Given the description of an element on the screen output the (x, y) to click on. 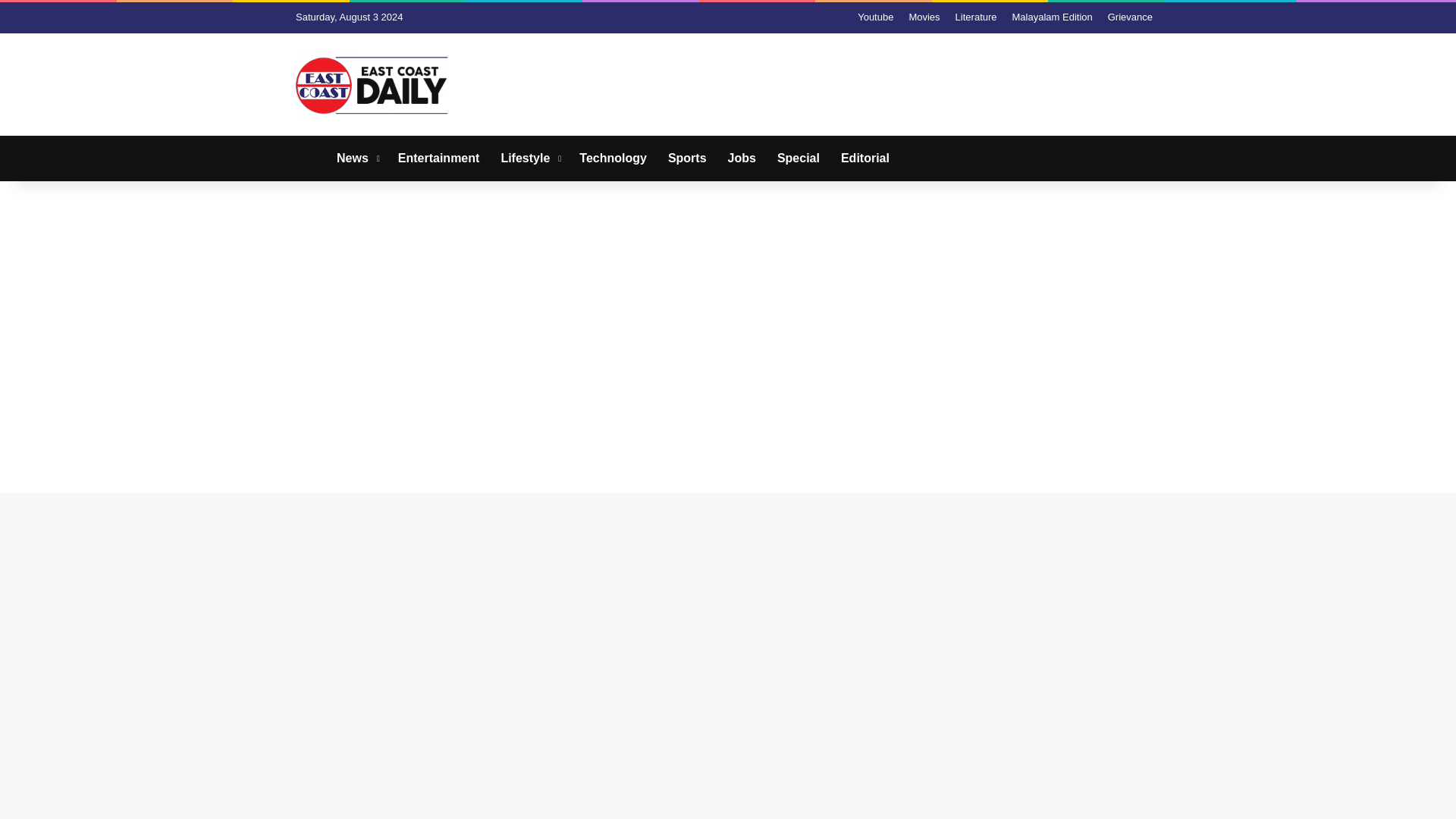
Literature (975, 17)
Jobs (742, 157)
Editorial (864, 157)
Lifestyle (529, 157)
Movies (924, 17)
Malayalam Edition (1052, 17)
Grievance (1130, 17)
Youtube (875, 17)
Sports (687, 157)
News (356, 157)
Entertainment (438, 157)
Technology (613, 157)
Special (798, 157)
